Given the description of an element on the screen output the (x, y) to click on. 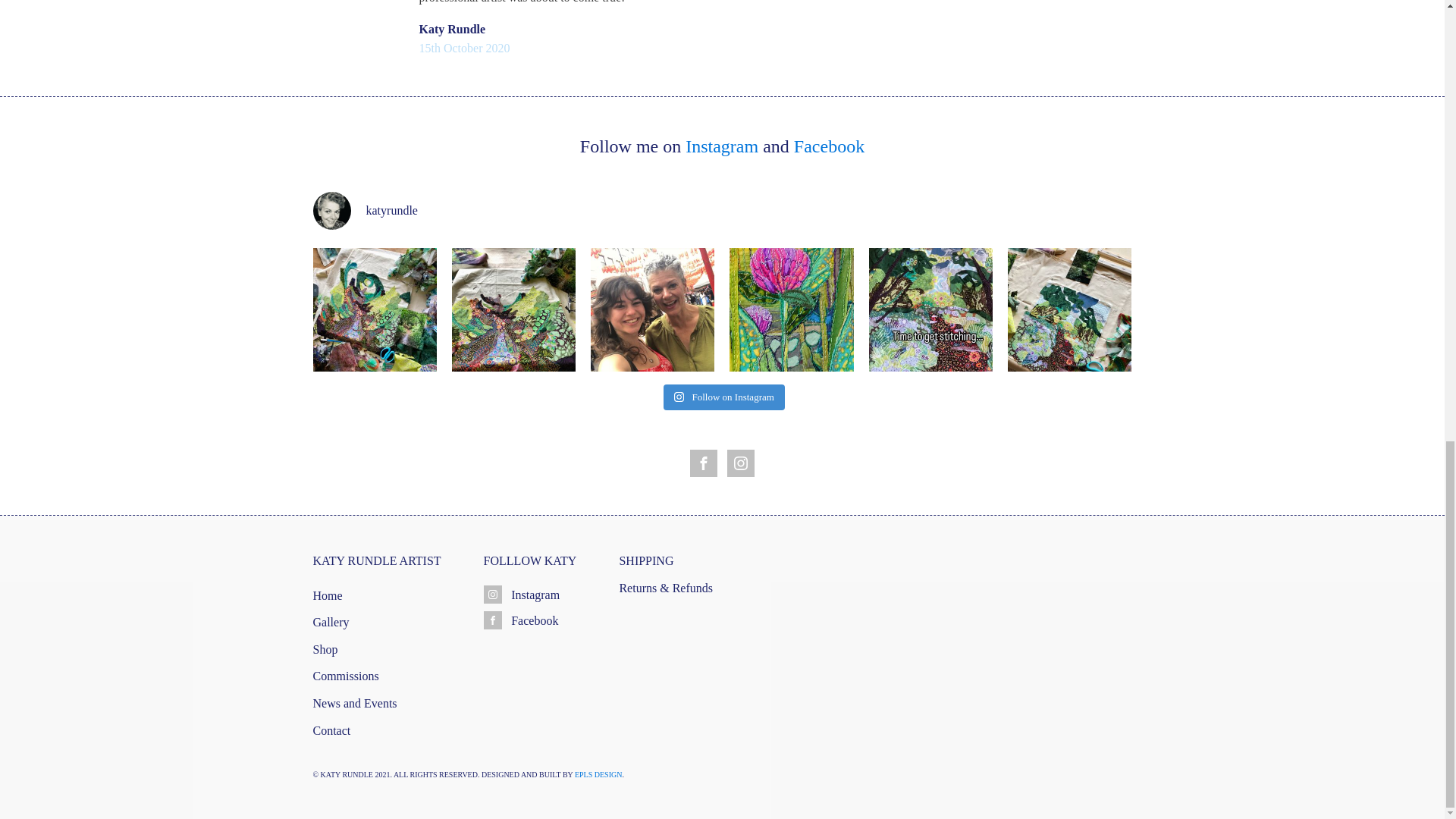
Contact (362, 727)
Commissions (362, 672)
Instagram (721, 146)
Home (362, 592)
News and Events (362, 699)
Gallery (362, 618)
Facebook (828, 146)
katyrundle (722, 210)
Follow on Instagram (723, 397)
Shop (362, 646)
